Given the description of an element on the screen output the (x, y) to click on. 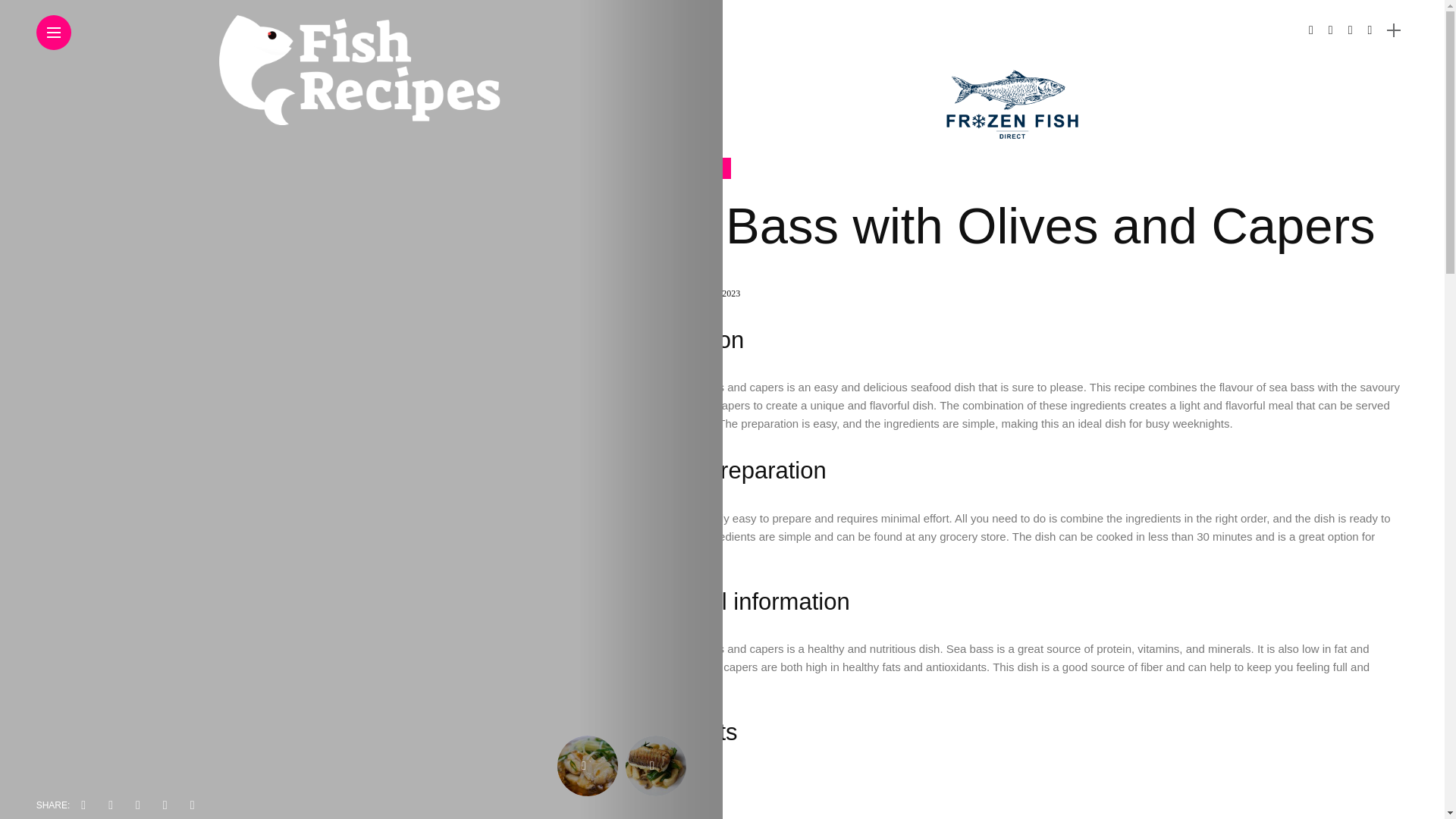
Posts by Julian (663, 293)
